Given the description of an element on the screen output the (x, y) to click on. 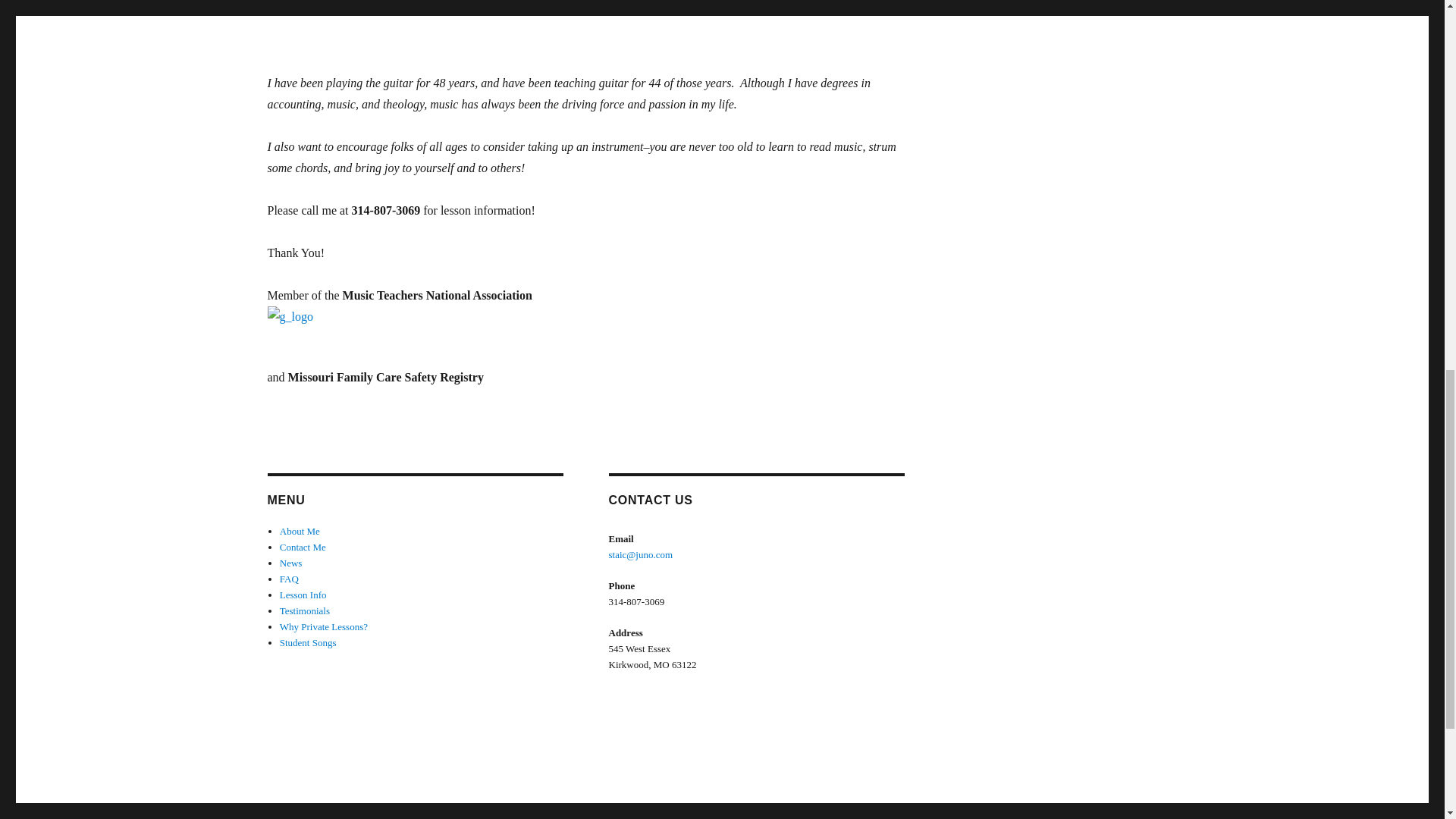
Lesson Info (302, 594)
Student Songs (307, 642)
News (290, 562)
FAQ (288, 578)
About Me (299, 531)
Contact Me (302, 546)
Testimonials (304, 610)
Why Private Lessons? (323, 626)
